Given the description of an element on the screen output the (x, y) to click on. 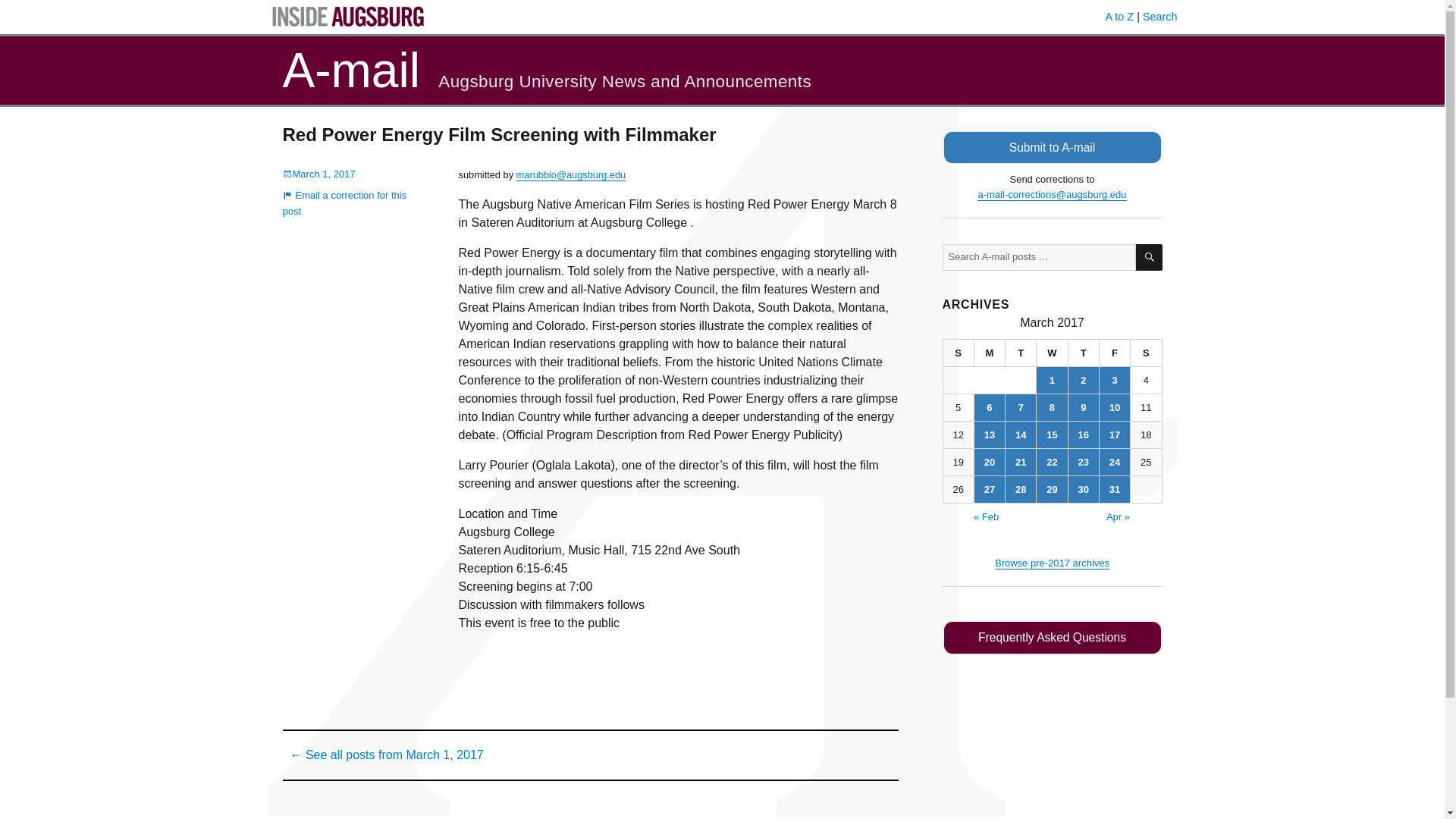
A to Z (1119, 16)
20 (989, 461)
23 (1083, 461)
14 (1020, 434)
17 (1114, 434)
7 (1020, 406)
28 (1020, 488)
31 (1114, 488)
1 (1051, 379)
30 (1083, 488)
